Given the description of an element on the screen output the (x, y) to click on. 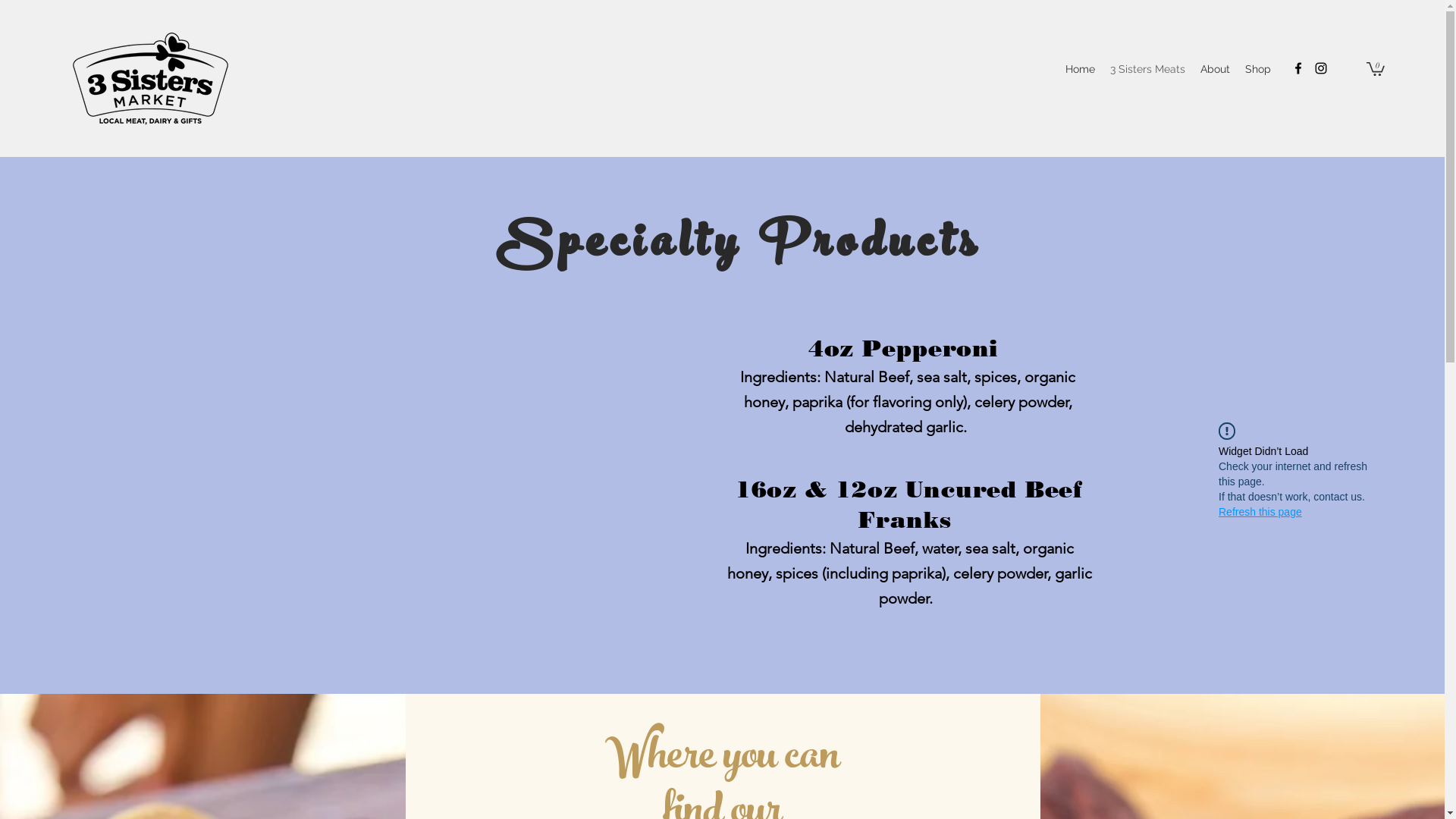
External YouTube Element type: hover (362, 473)
Refresh this page Element type: text (1260, 511)
Shop Element type: text (1257, 68)
3 Sisters Meats Element type: text (1147, 68)
0 Element type: text (1375, 67)
Home Element type: text (1079, 68)
